Given the description of an element on the screen output the (x, y) to click on. 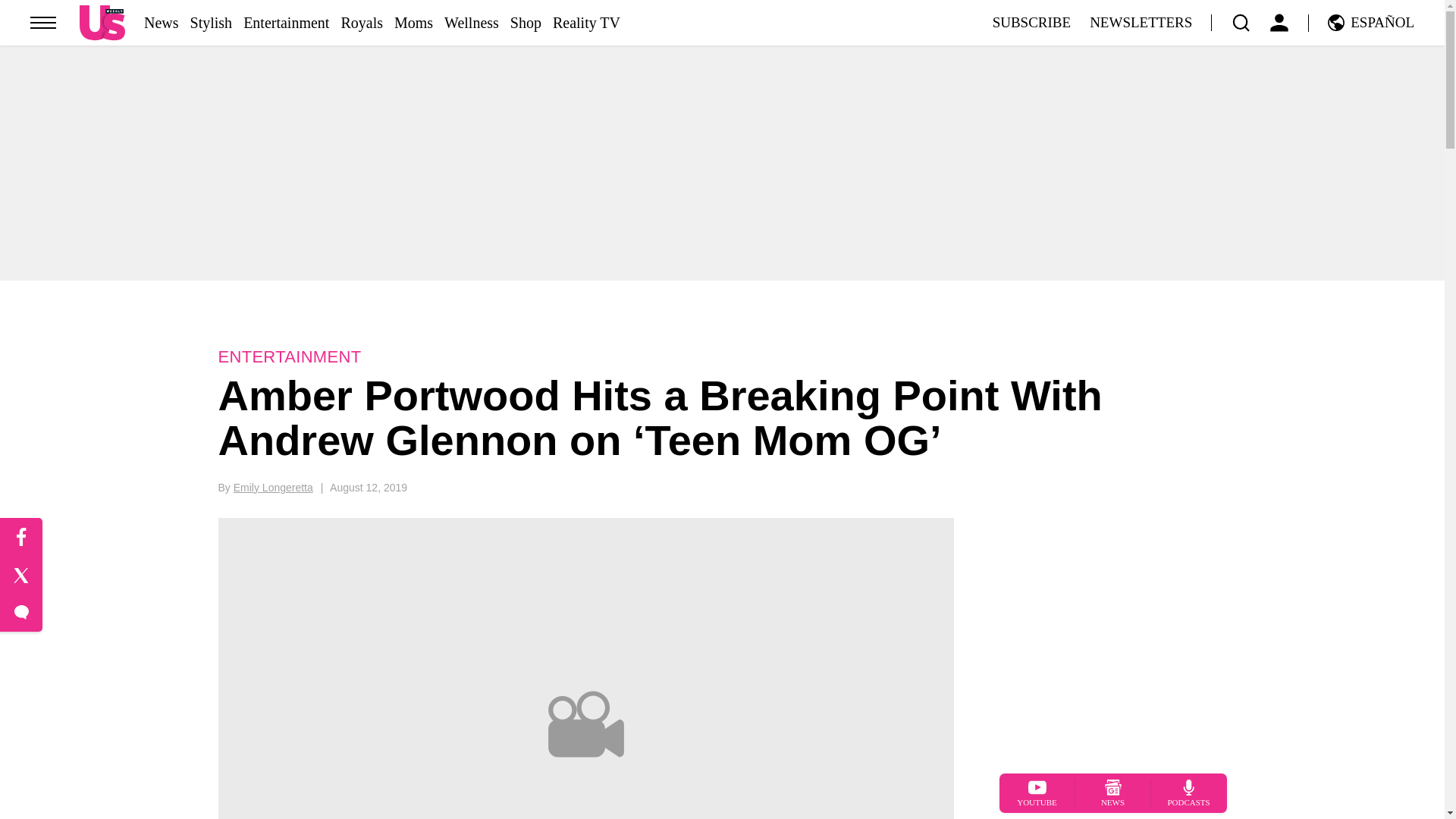
Entertainment (286, 22)
Posts by Emily Longeretta (272, 487)
Wellness (471, 22)
Click to share on Twitter (21, 575)
Royals (361, 22)
News (161, 22)
Us Weekly Magazine (102, 22)
Click to share on Facebook (21, 537)
Stylish (211, 22)
Moms (413, 22)
